Given the description of an element on the screen output the (x, y) to click on. 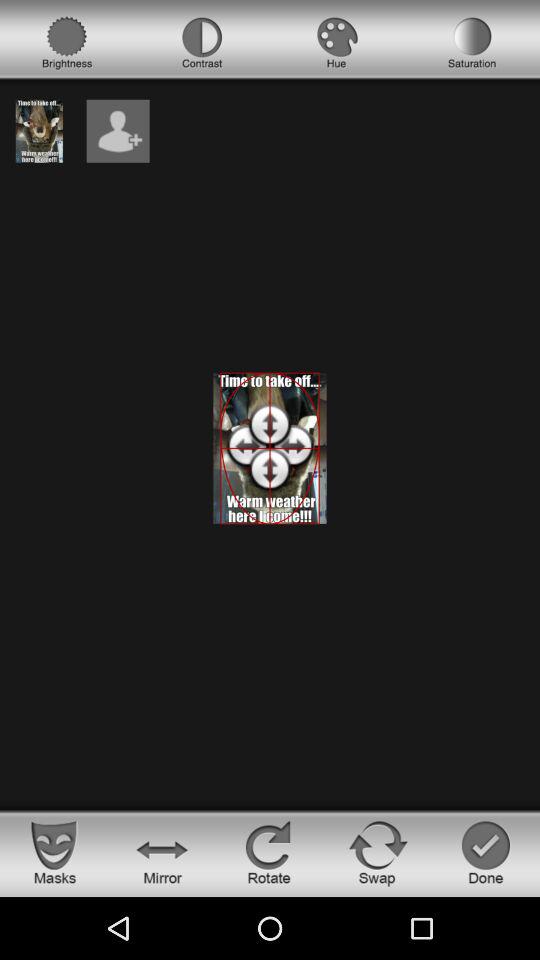
rotate the image (269, 852)
